Given the description of an element on the screen output the (x, y) to click on. 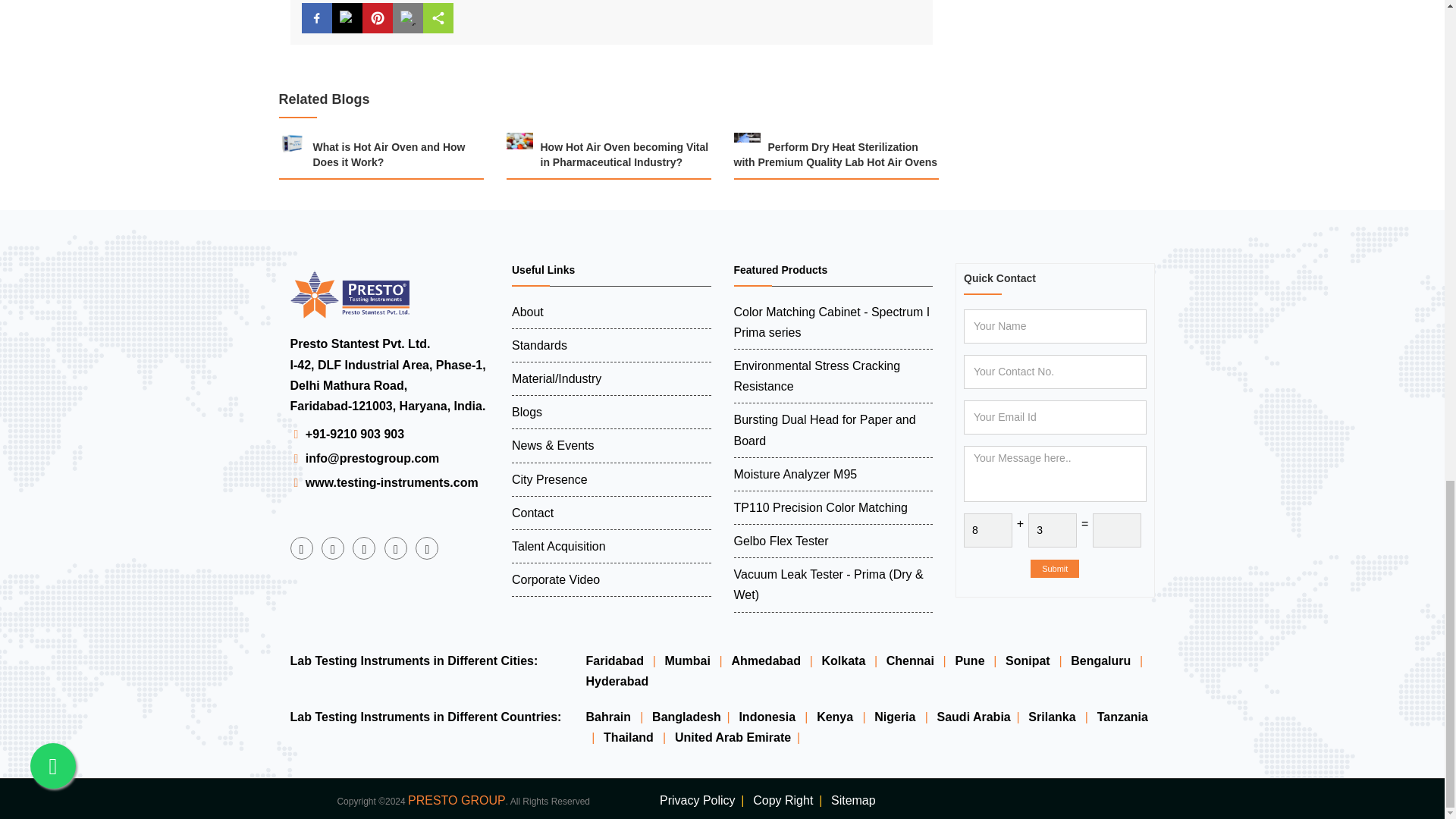
3 (1052, 530)
8 (987, 530)
